Given the description of an element on the screen output the (x, y) to click on. 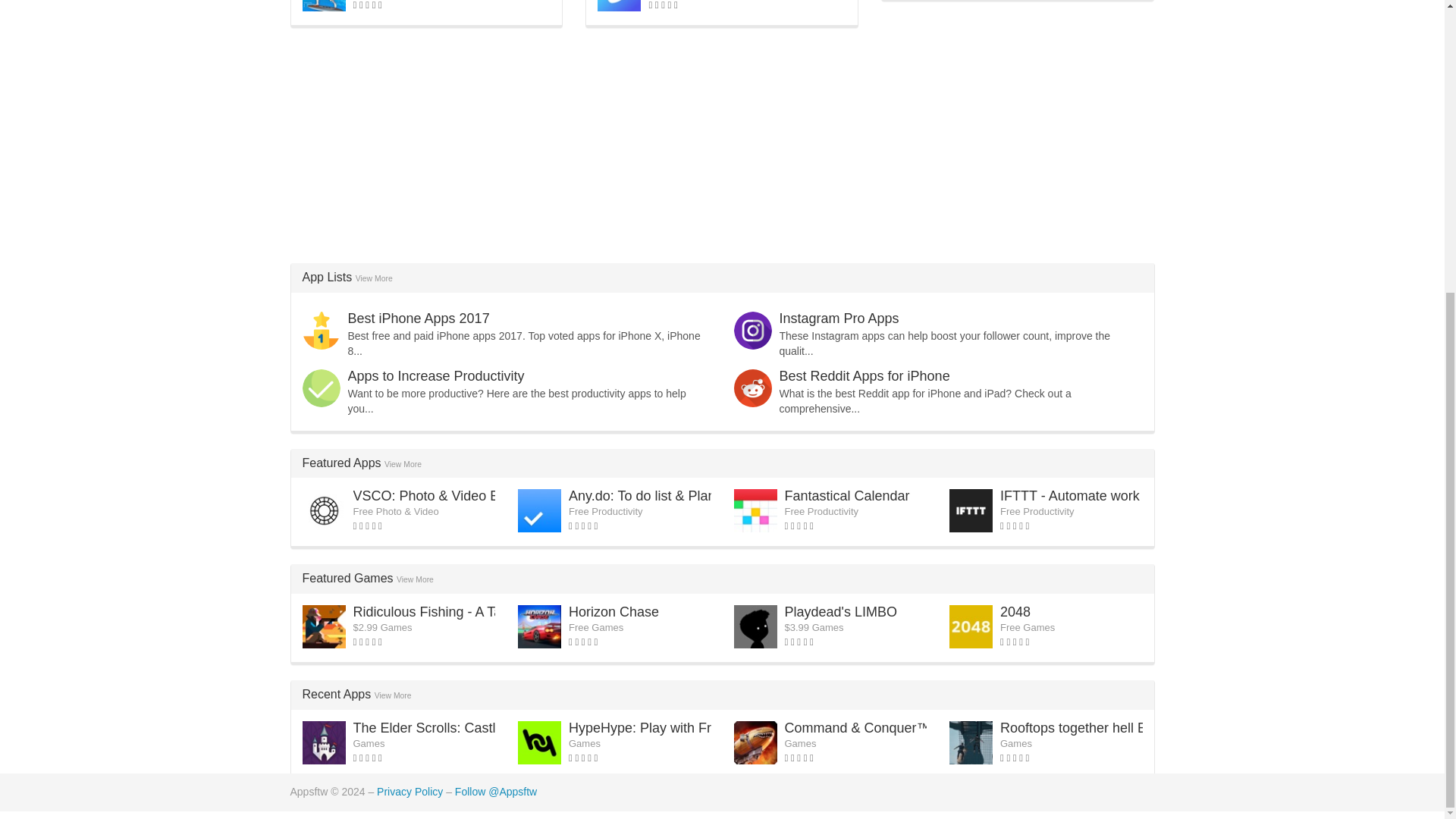
Instagram Pro Apps (838, 318)
Apps to Increase Productivity (435, 376)
Best iPhone Apps 2017 (418, 318)
